Given the description of an element on the screen output the (x, y) to click on. 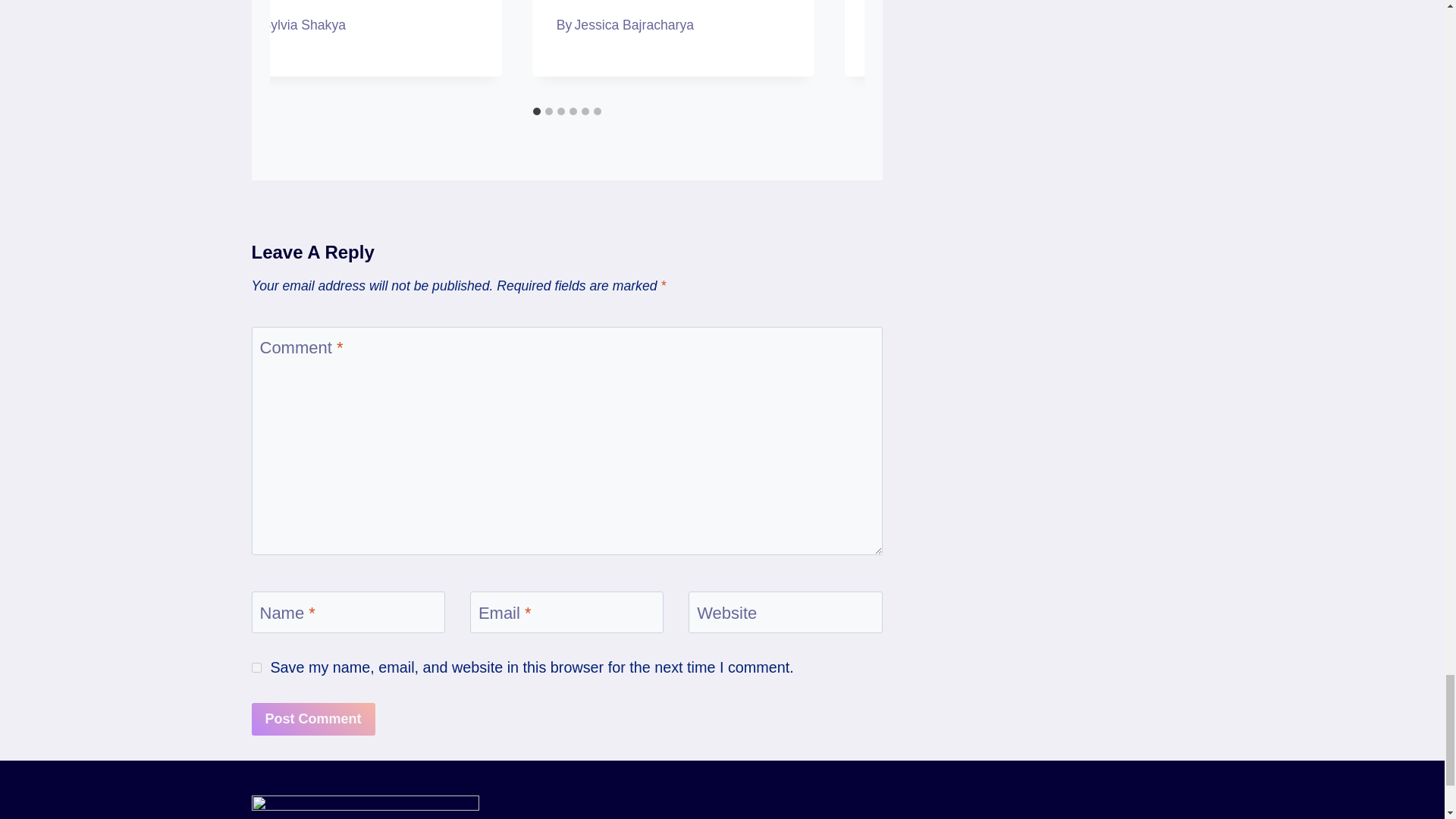
yes (256, 667)
Post Comment (313, 718)
